Given the description of an element on the screen output the (x, y) to click on. 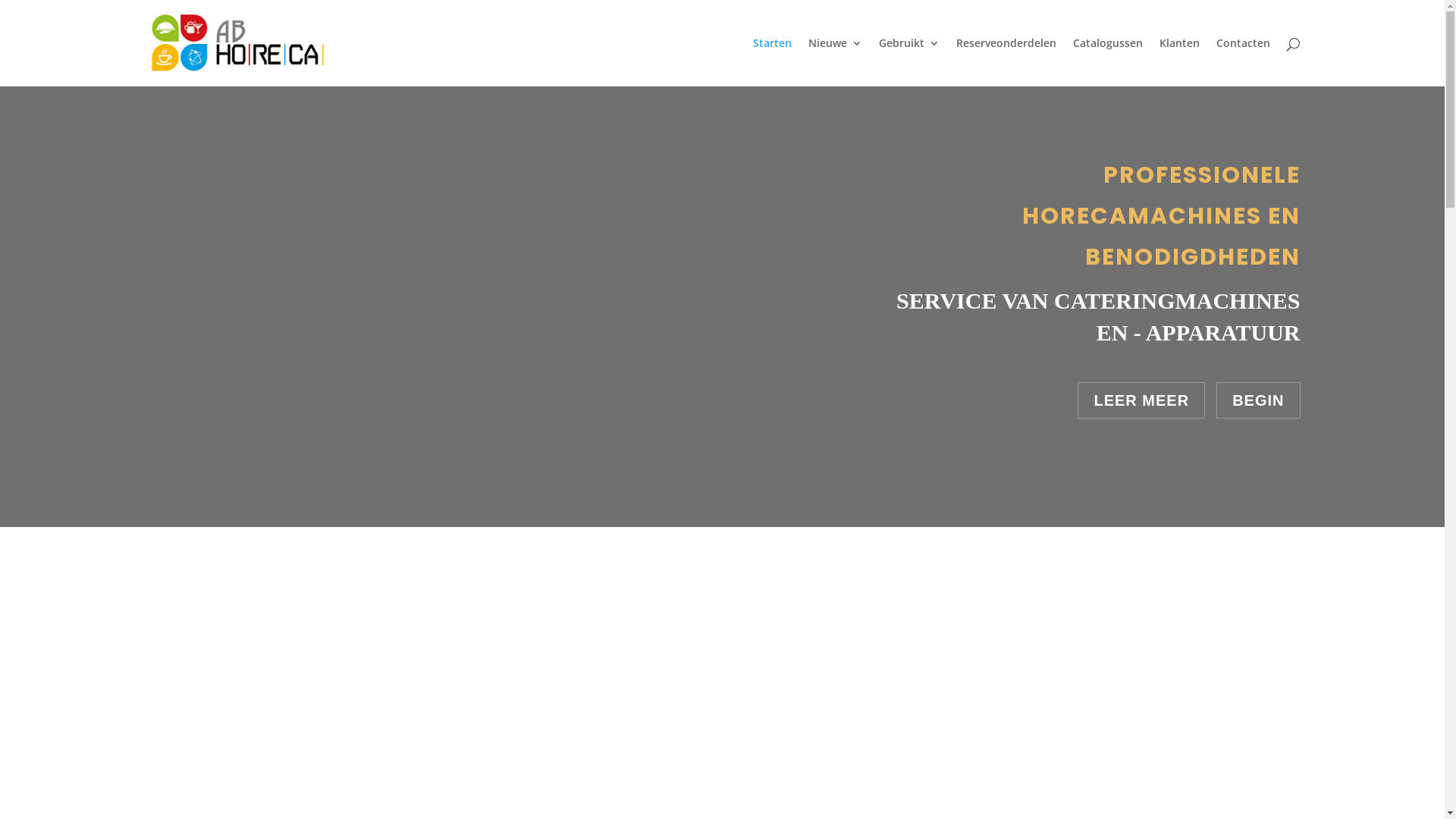
LEER MEER Element type: text (1140, 400)
Catalogussen Element type: text (1107, 61)
Gebruikt Element type: text (908, 61)
BEGIN Element type: text (1257, 400)
Starten Element type: text (771, 61)
Contacten Element type: text (1243, 61)
Nieuwe Element type: text (835, 61)
Klanten Element type: text (1178, 61)
Reserveonderdelen Element type: text (1005, 61)
